Given the description of an element on the screen output the (x, y) to click on. 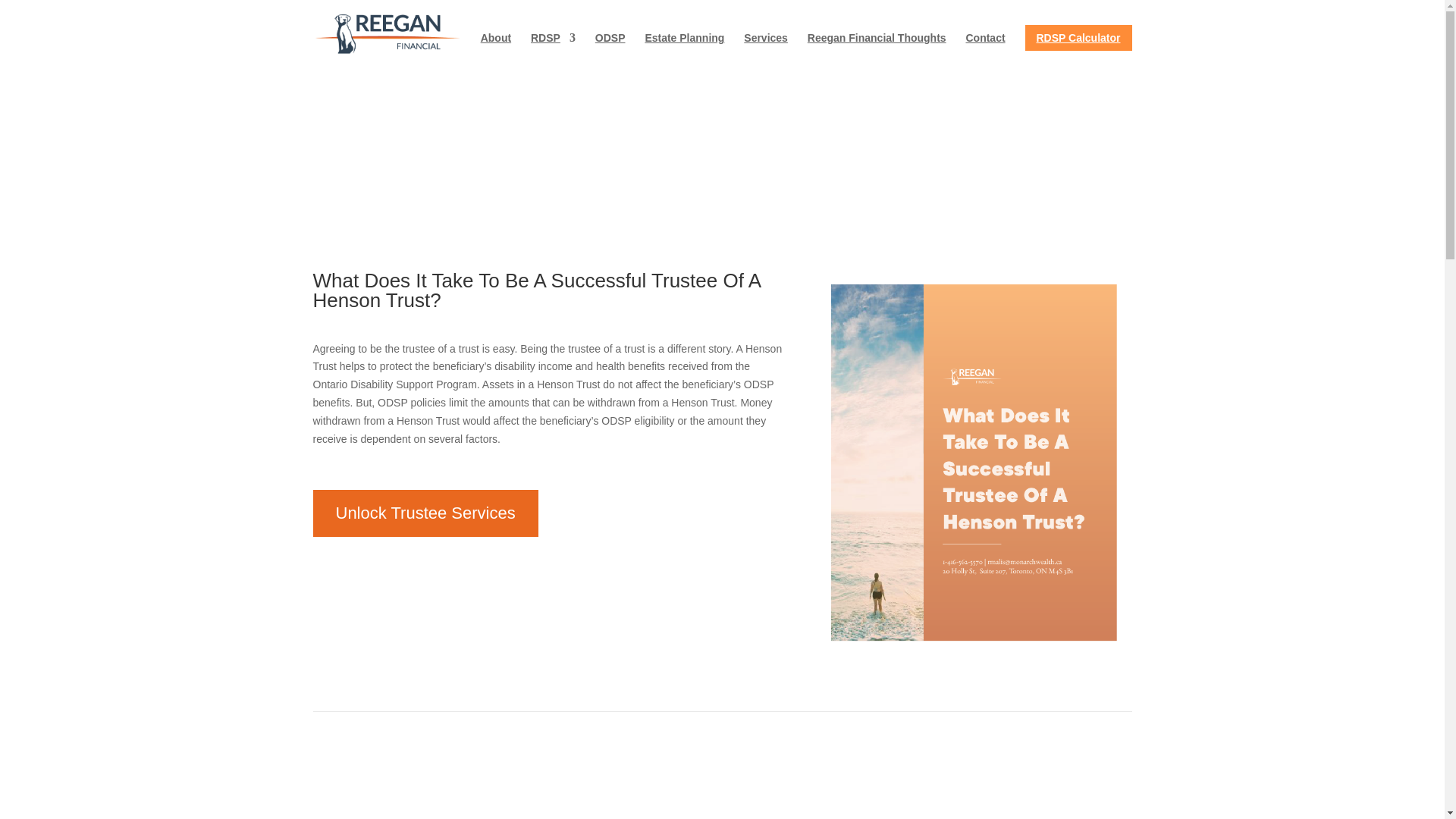
Services (765, 49)
Contact (984, 49)
RDSP Calculator (1078, 37)
RDSP (553, 49)
Unlock Trustee Services (425, 514)
Reegan Financial Thoughts (877, 49)
Estate Planning (684, 49)
